Given the description of an element on the screen output the (x, y) to click on. 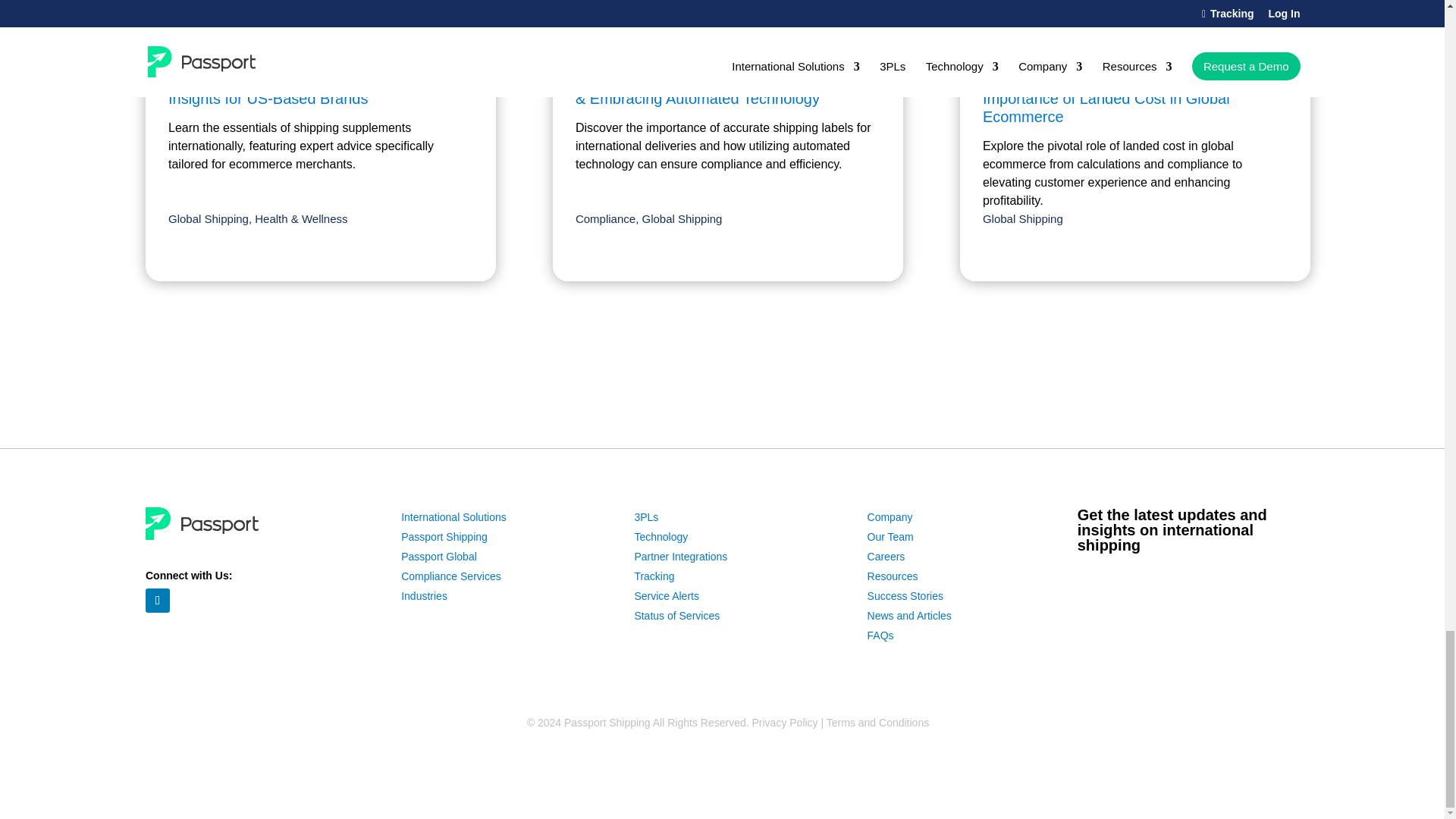
Form 0 (1193, 626)
Follow on LinkedIn (157, 600)
